Given the description of an element on the screen output the (x, y) to click on. 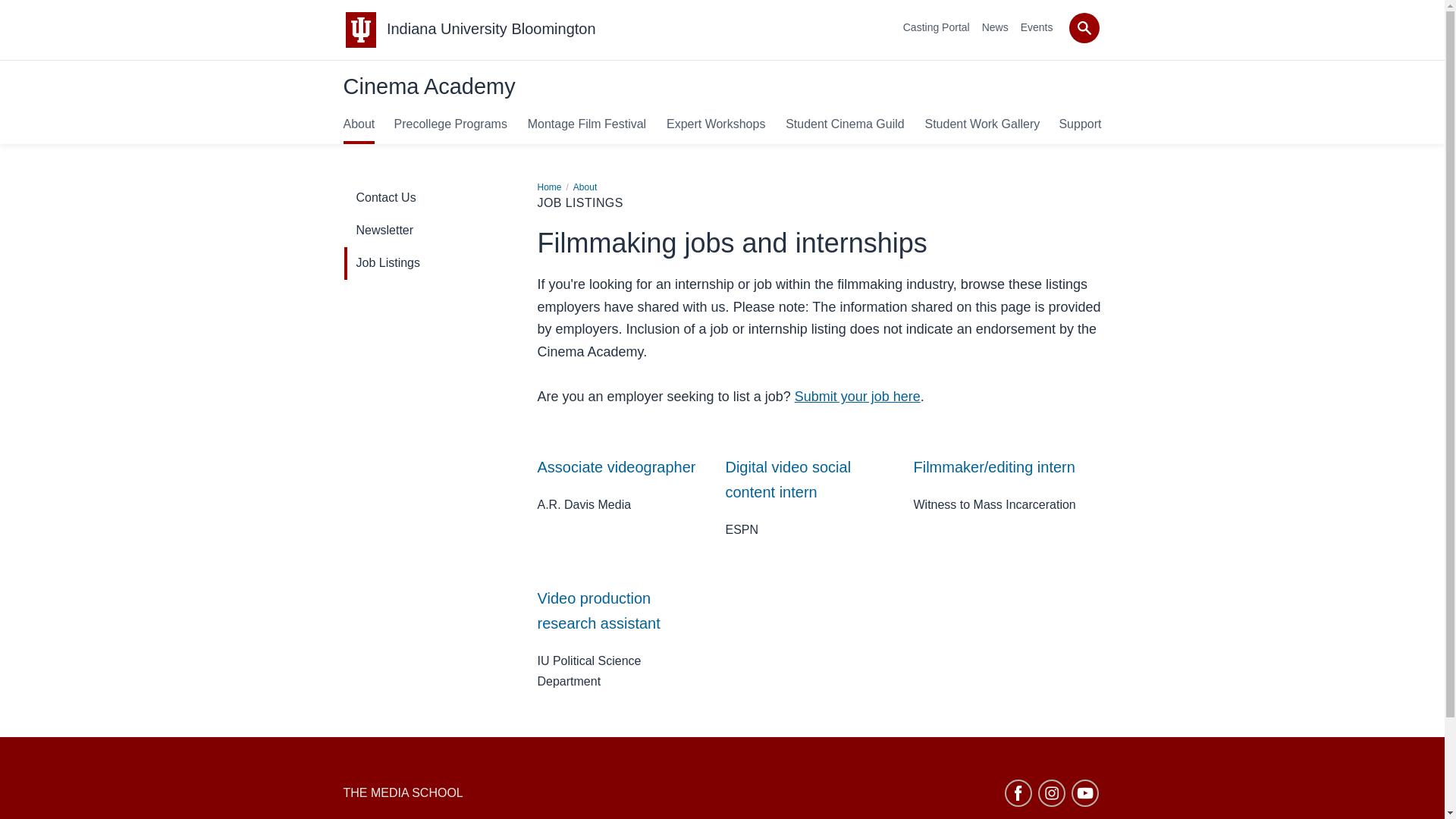
About (584, 186)
Expert Workshops (715, 124)
About (358, 124)
Cinema Academy (428, 86)
Support (1079, 124)
Casting Portal (935, 27)
Student Work Gallery (981, 124)
Montage Film Festival (586, 124)
Student Cinema Guild (845, 124)
Indiana University Bloomington (491, 28)
Associate videographer (616, 467)
Precollege Programs (449, 124)
Home (548, 186)
Events (1036, 27)
News (995, 27)
